Given the description of an element on the screen output the (x, y) to click on. 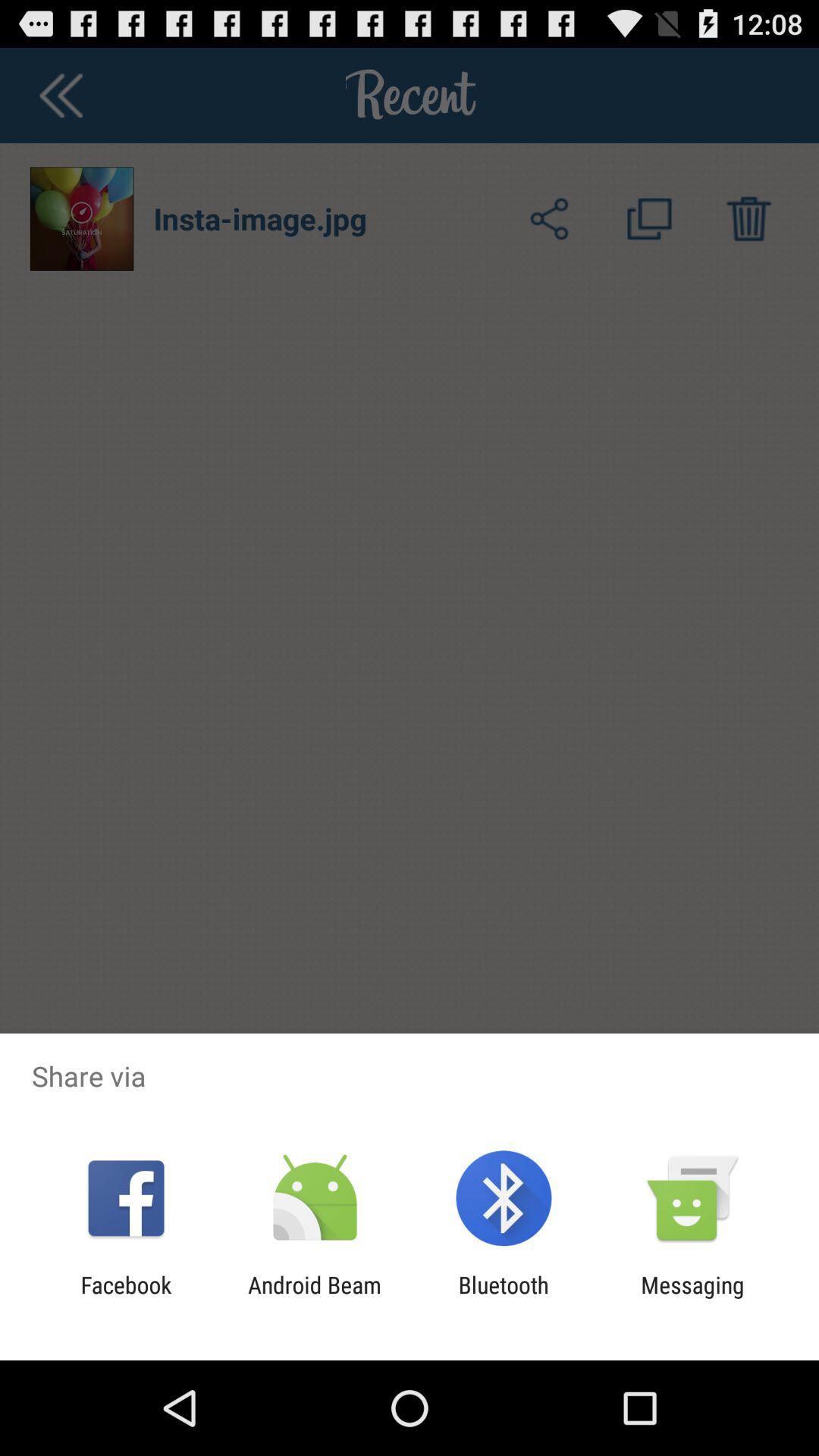
swipe to the facebook item (125, 1298)
